Given the description of an element on the screen output the (x, y) to click on. 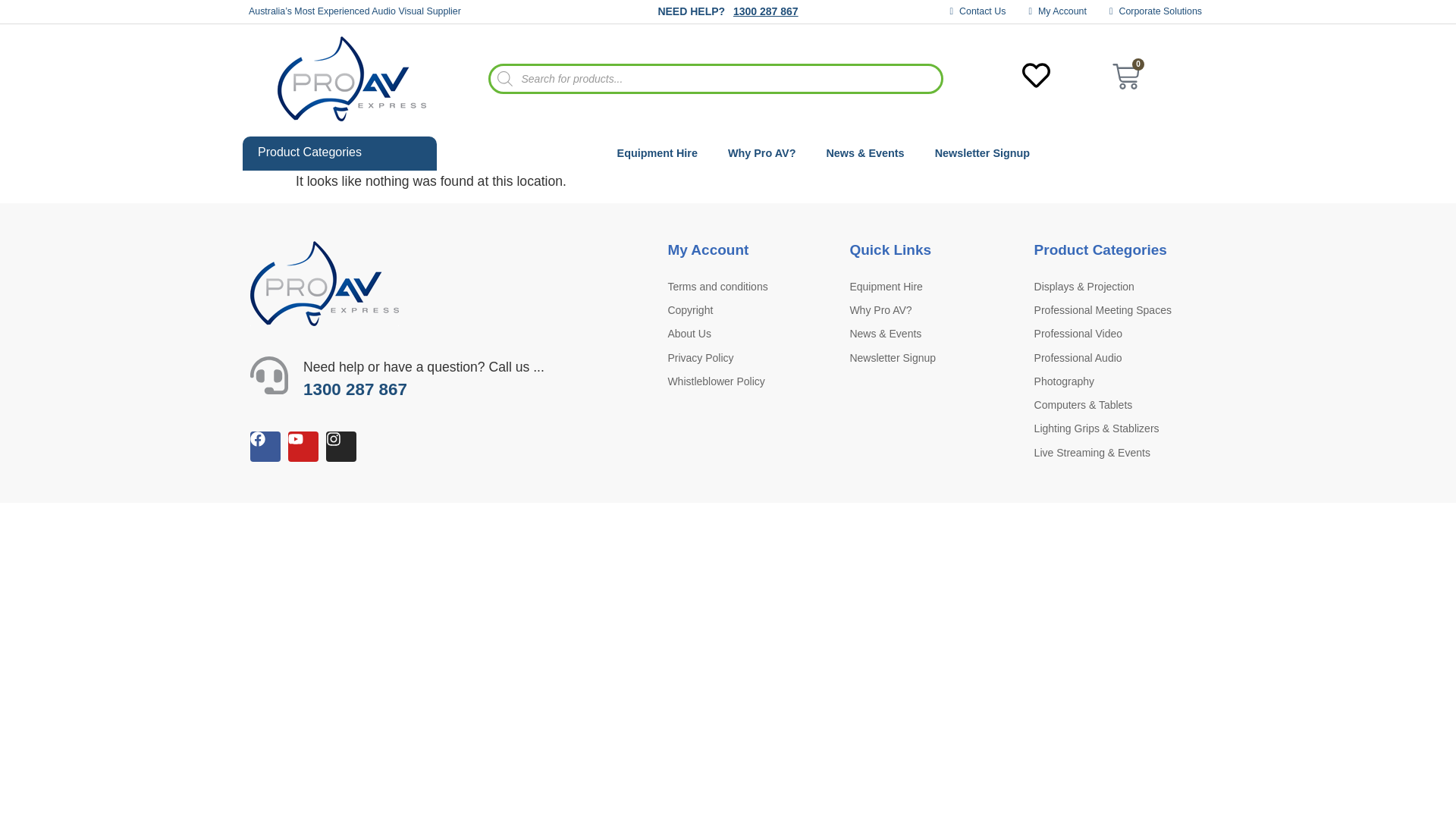
1300 287 867 (765, 10)
Corporate Solutions (1155, 10)
Contact Us (978, 10)
0 (1125, 78)
Product Categories (339, 153)
My Account (1056, 10)
